Given the description of an element on the screen output the (x, y) to click on. 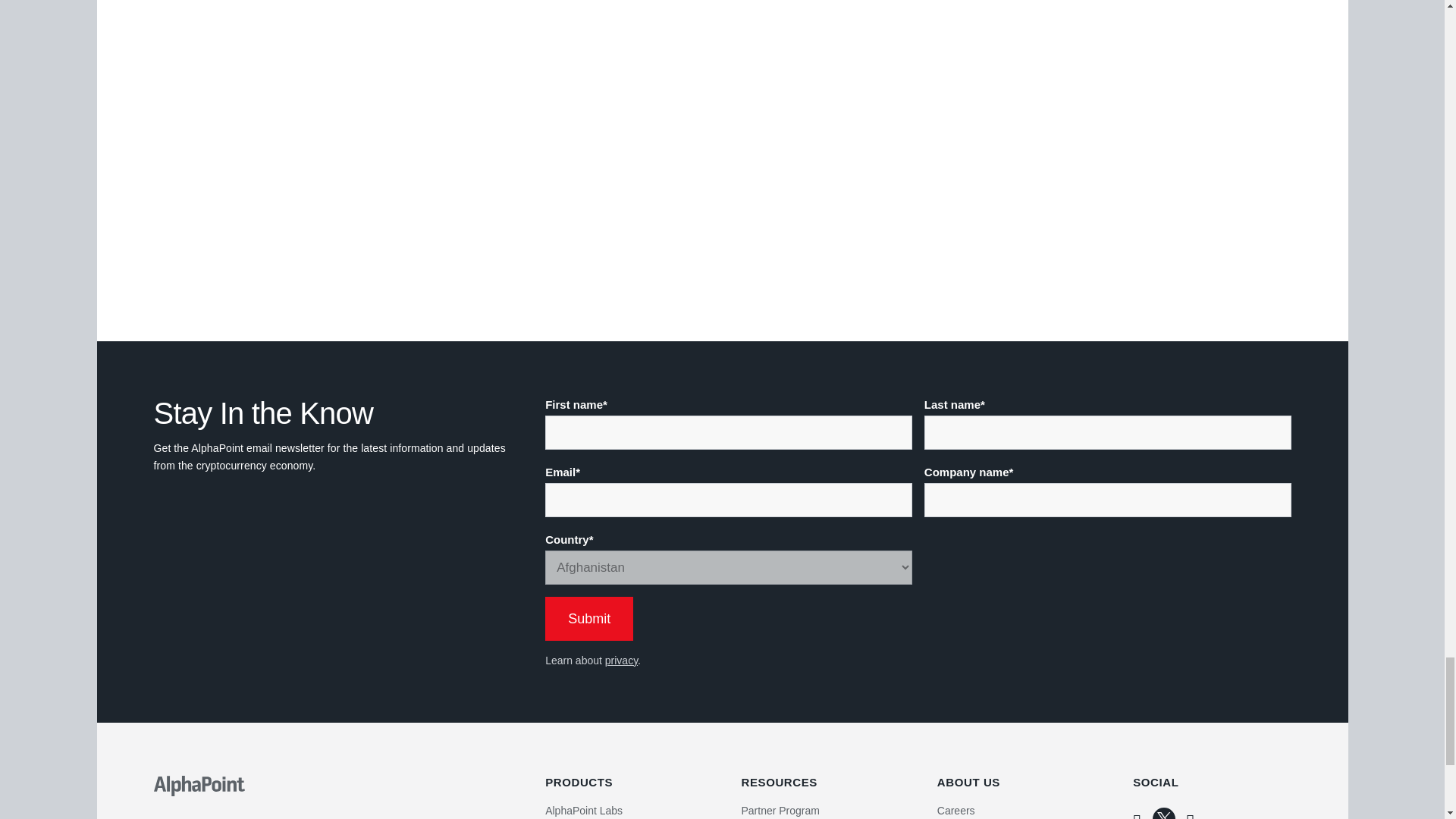
Submit (588, 618)
